Given the description of an element on the screen output the (x, y) to click on. 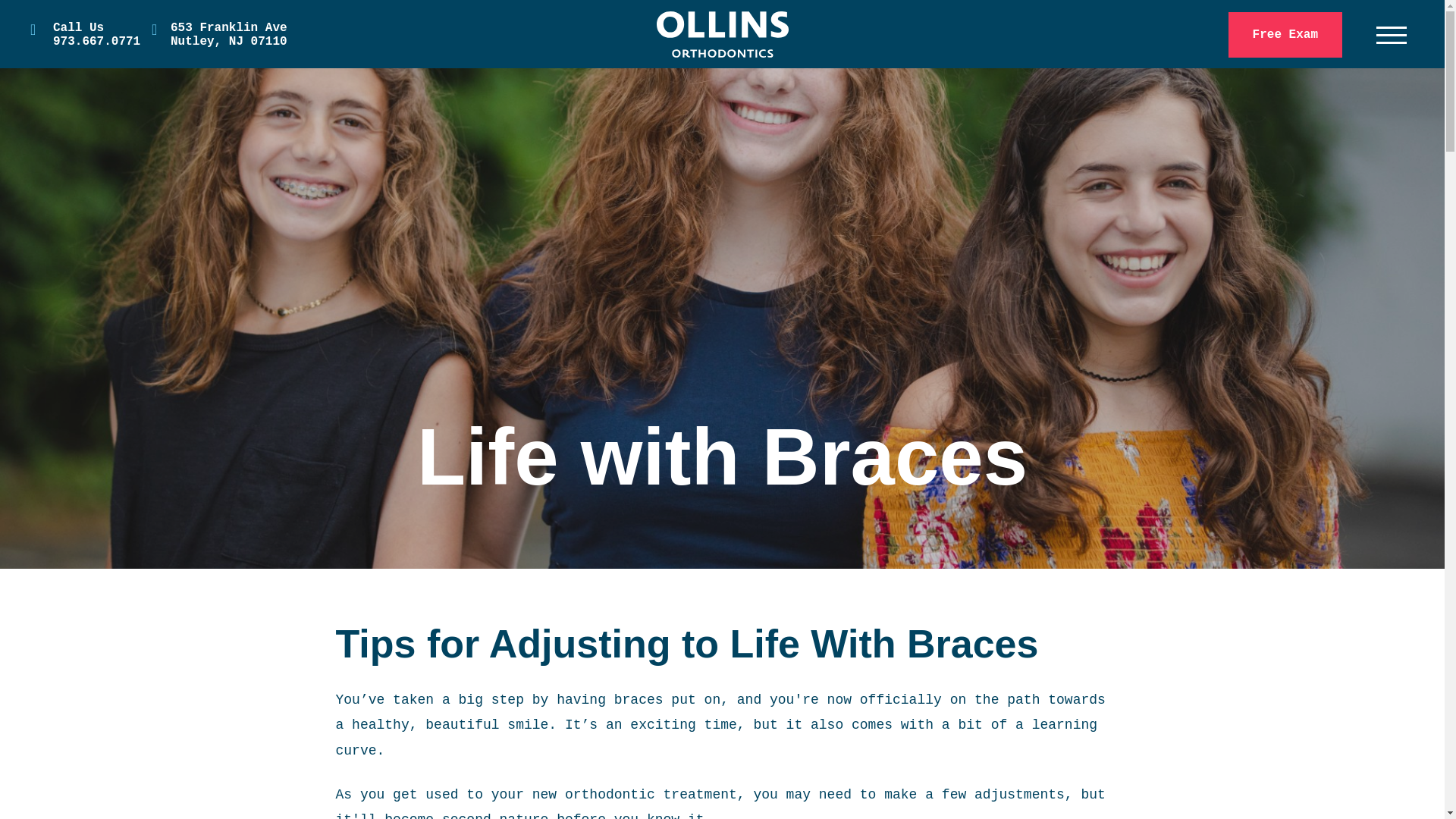
Free Exam (84, 33)
